Given the description of an element on the screen output the (x, y) to click on. 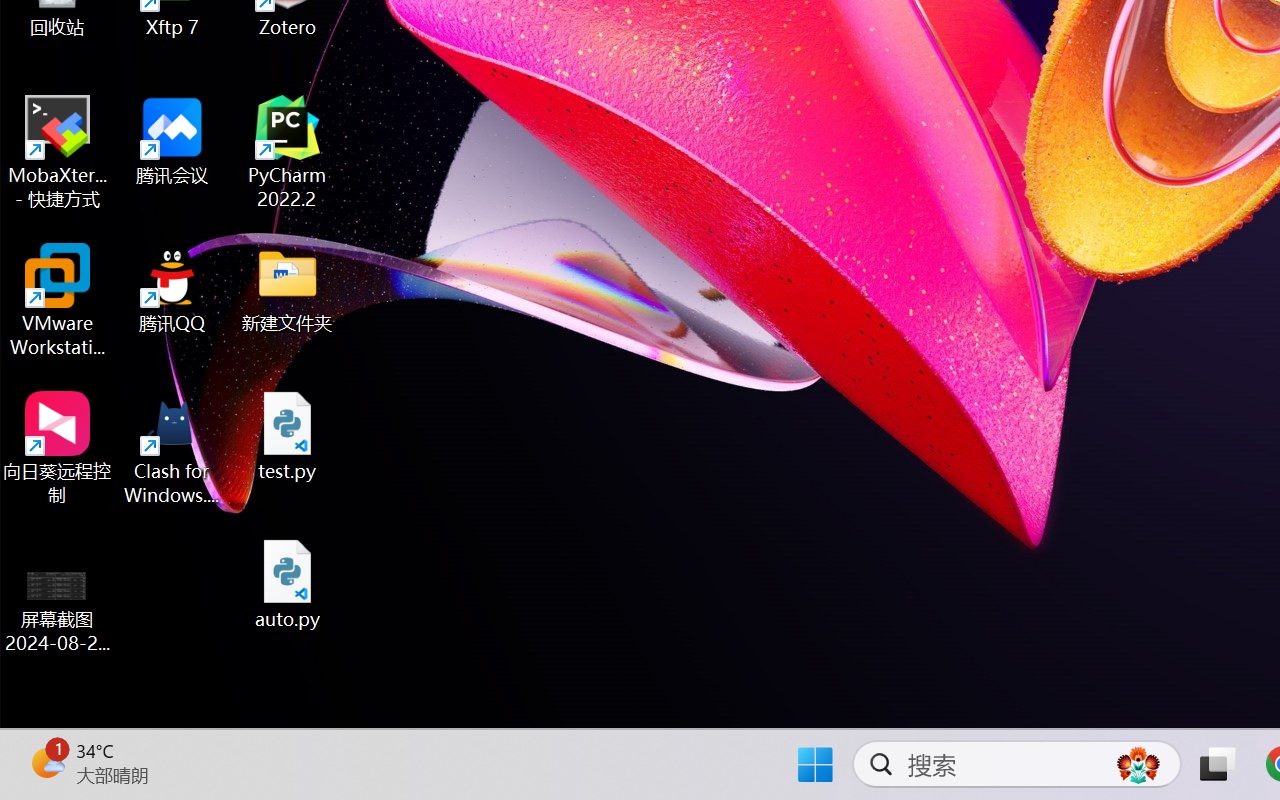
PyCharm 2022.2 (287, 152)
VMware Workstation Pro (57, 300)
